Given the description of an element on the screen output the (x, y) to click on. 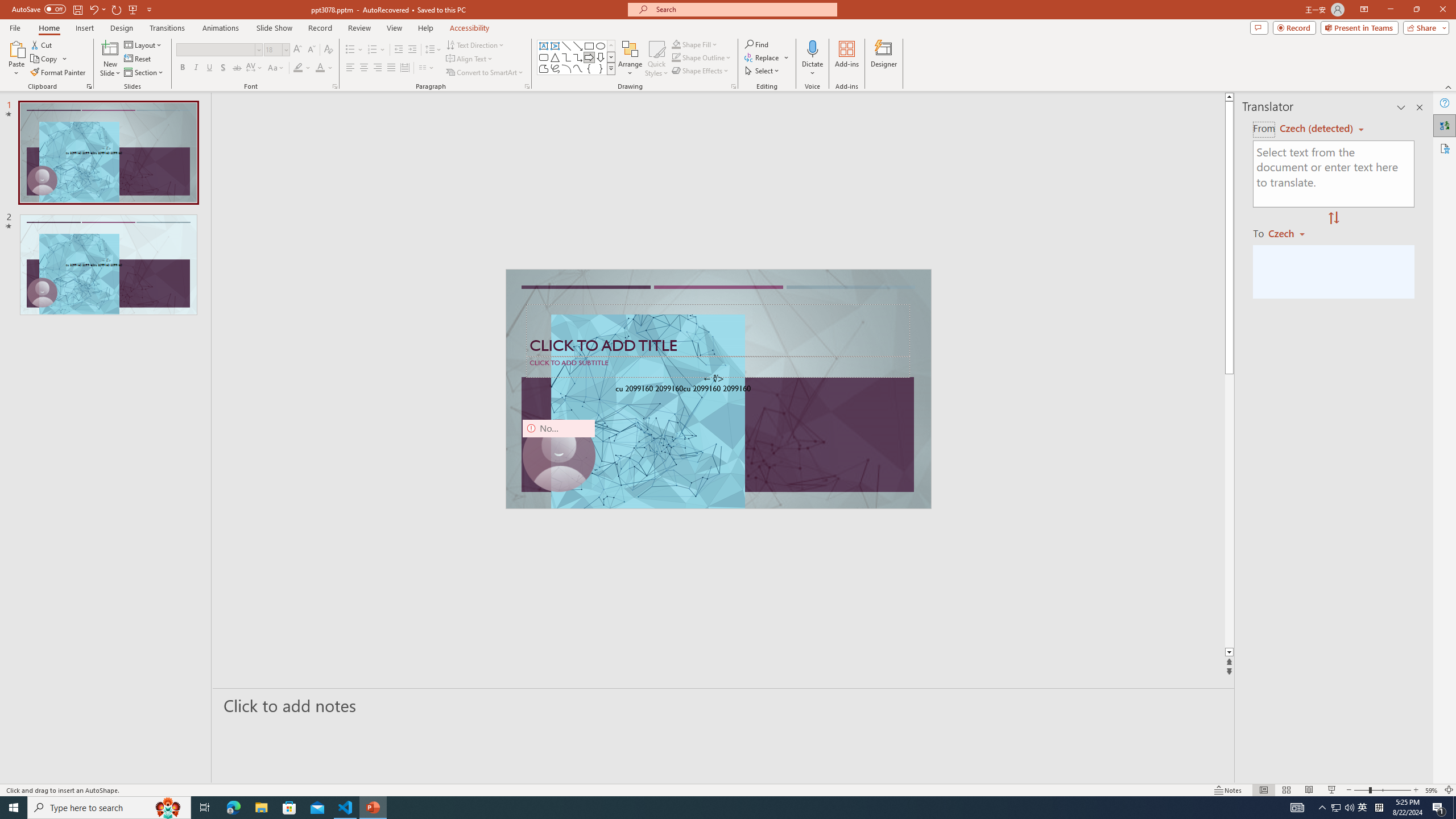
Czech (1291, 232)
